Given the description of an element on the screen output the (x, y) to click on. 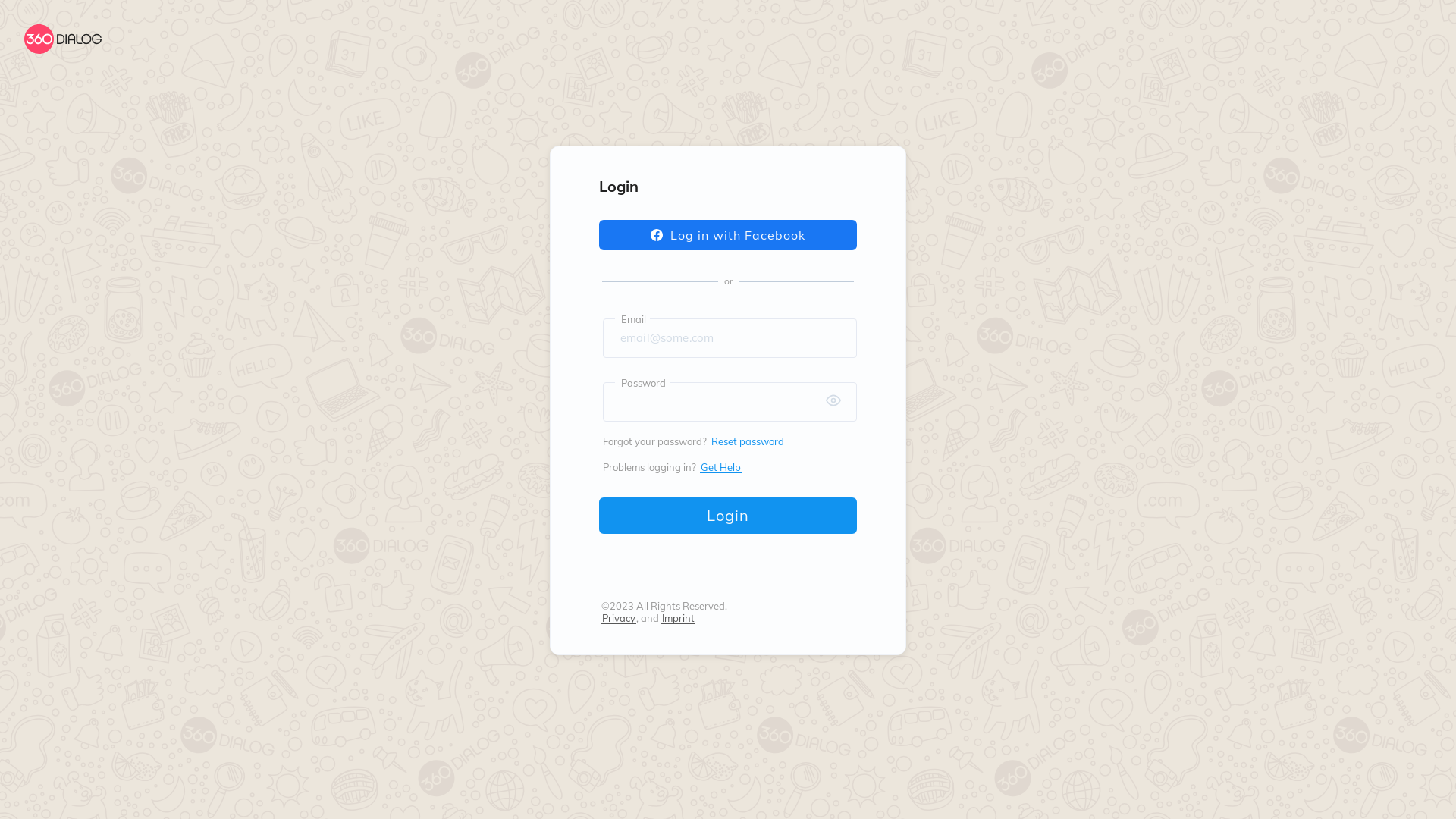
Get Help Element type: text (720, 467)
Imprint Element type: text (678, 617)
Login Element type: text (727, 515)
Privacy Element type: text (617, 617)
Log in with Facebook Element type: text (727, 234)
Reset password Element type: text (747, 441)
